Given the description of an element on the screen output the (x, y) to click on. 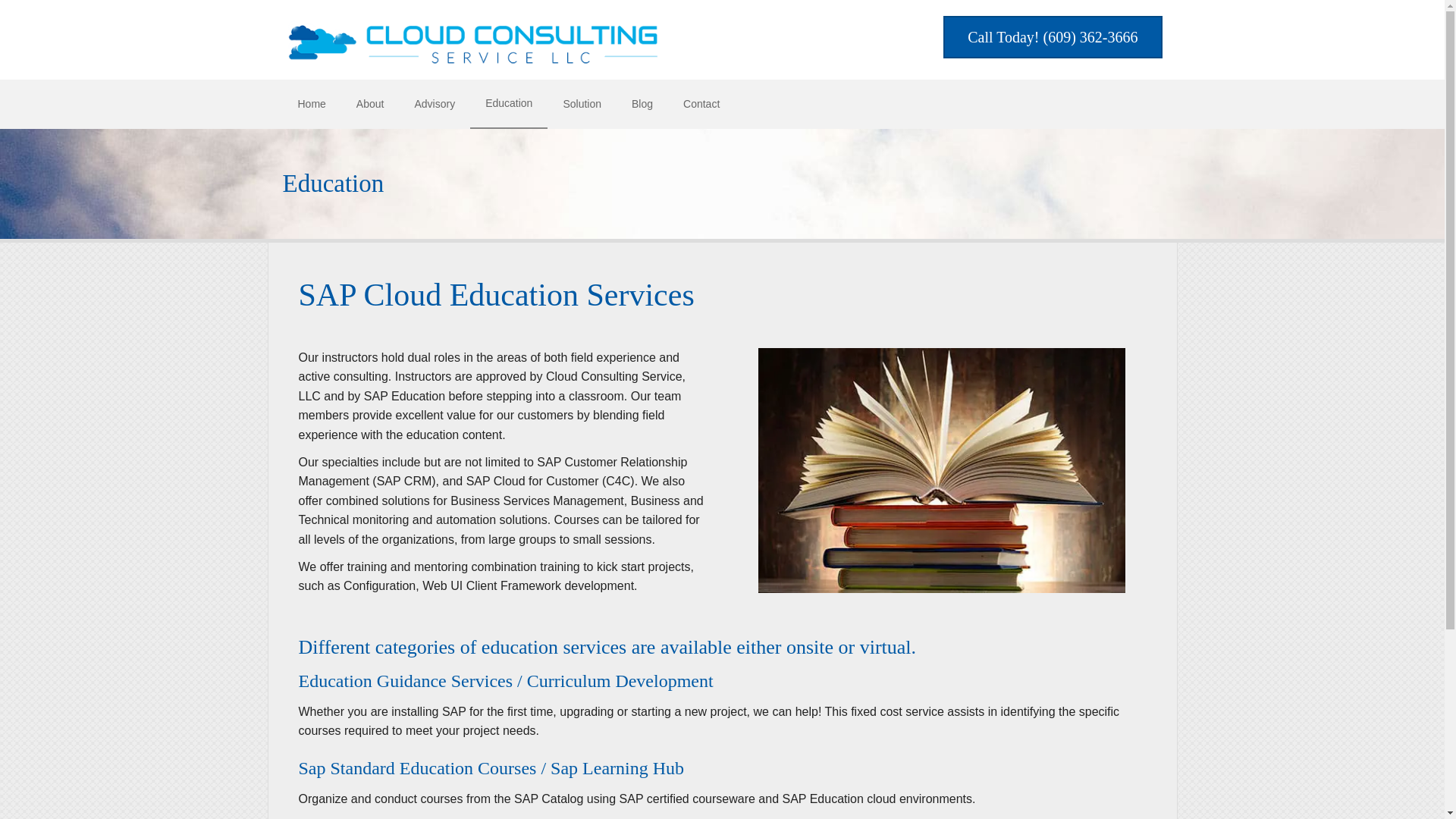
Education (508, 103)
About (369, 103)
Cloud Consulting Service (471, 41)
Blog (641, 103)
Home (311, 103)
Solution (581, 103)
Cloud Consulting Service (941, 470)
Advisory (434, 103)
Contact (701, 103)
